Given the description of an element on the screen output the (x, y) to click on. 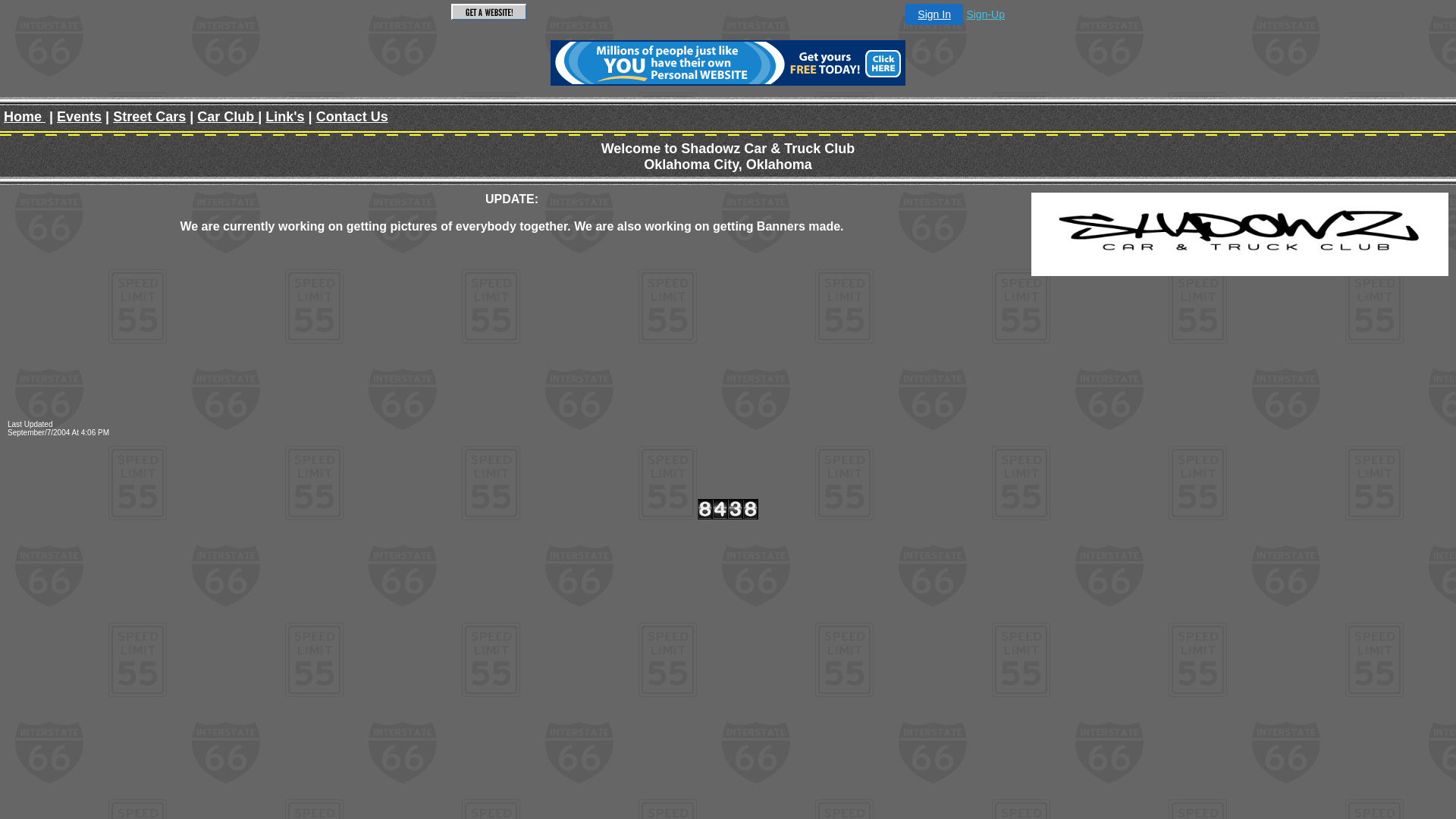
Contact Us Element type: text (352, 116)
Home  Element type: text (24, 116)
Events Element type: text (78, 116)
Sign In Element type: text (934, 14)
Street Cars Element type: text (148, 116)
Sign-Up Element type: text (985, 14)
Link's Element type: text (284, 116)
Car Club Element type: text (227, 116)
